Given the description of an element on the screen output the (x, y) to click on. 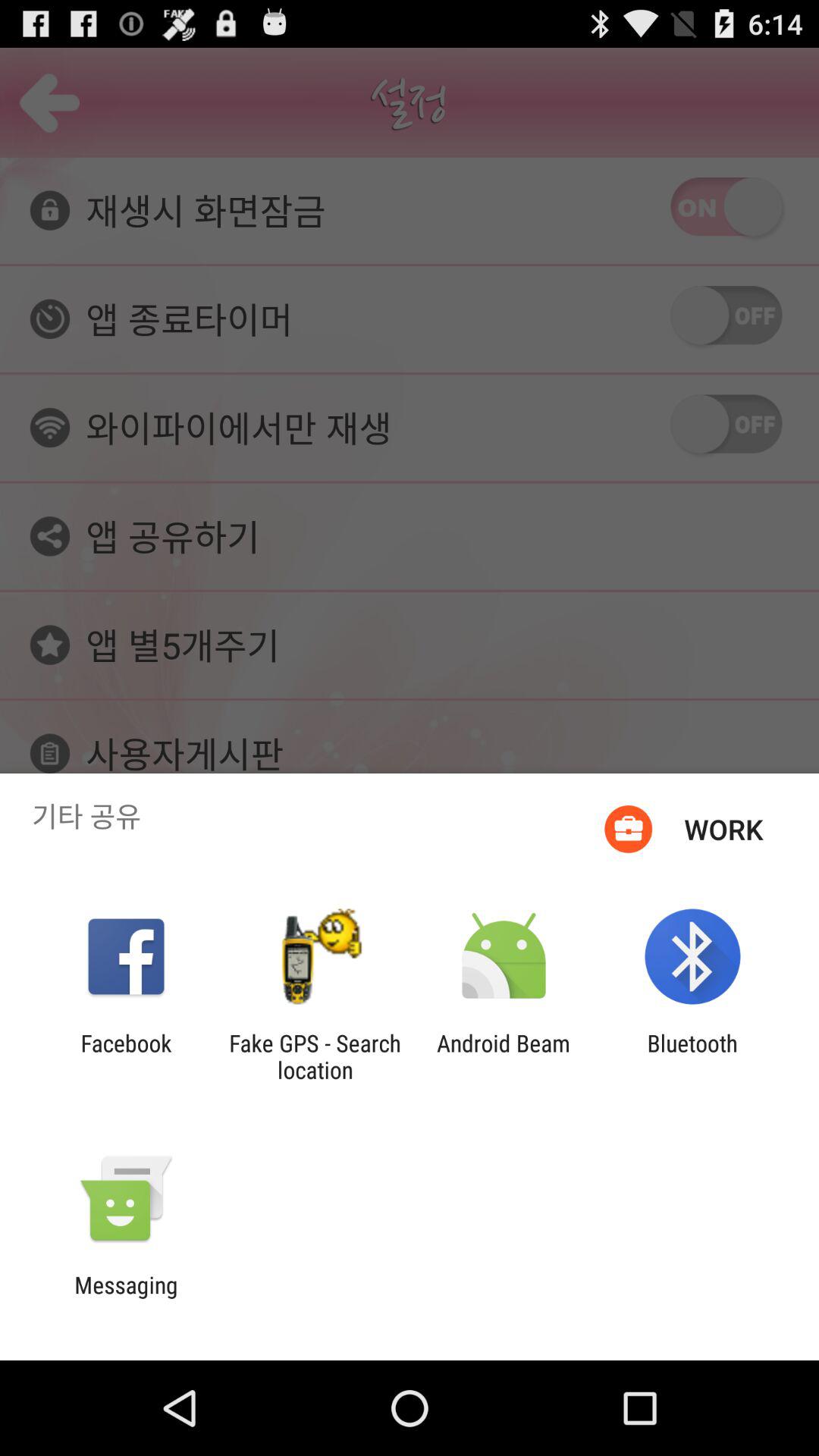
turn off the icon next to android beam icon (314, 1056)
